Given the description of an element on the screen output the (x, y) to click on. 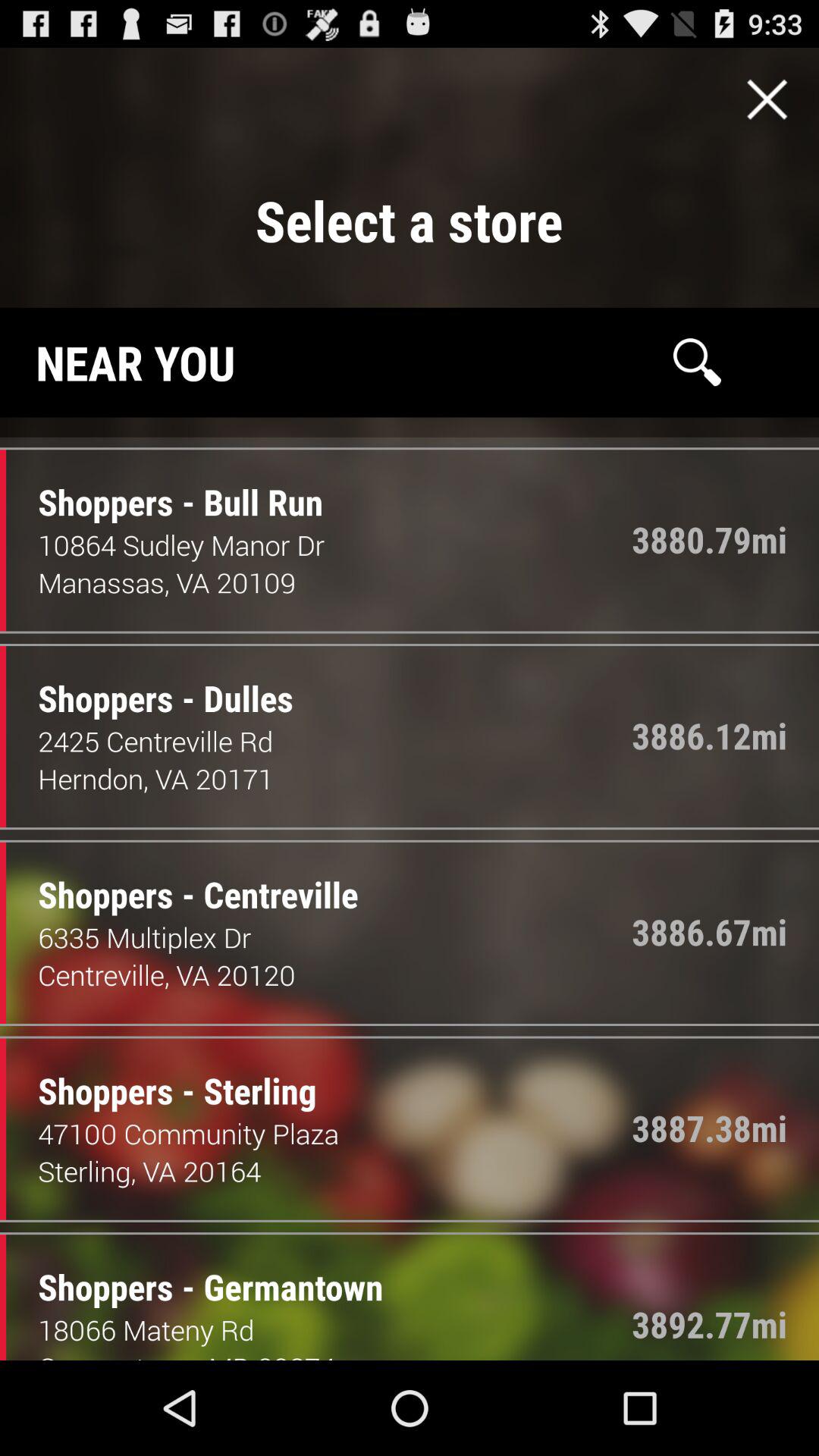
choose the icon to the left of 3887.38mi icon (165, 1075)
